Given the description of an element on the screen output the (x, y) to click on. 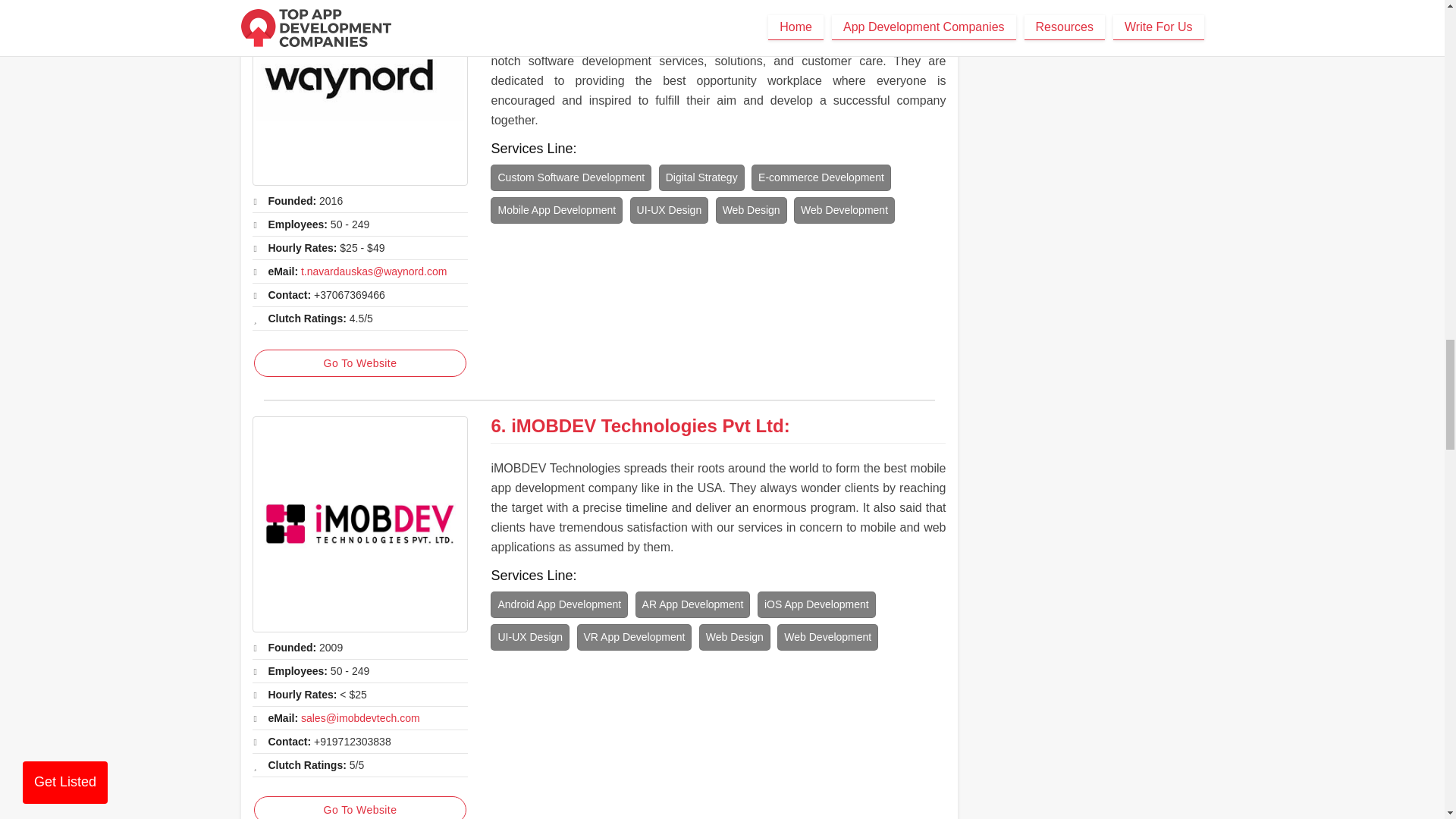
Go To Website (359, 362)
Waynord (359, 92)
iMOBDEV Technologies Pvt Ltd (647, 425)
iMOBDEV Technologies Pvt Ltd (359, 524)
Go To Website (359, 807)
